Given the description of an element on the screen output the (x, y) to click on. 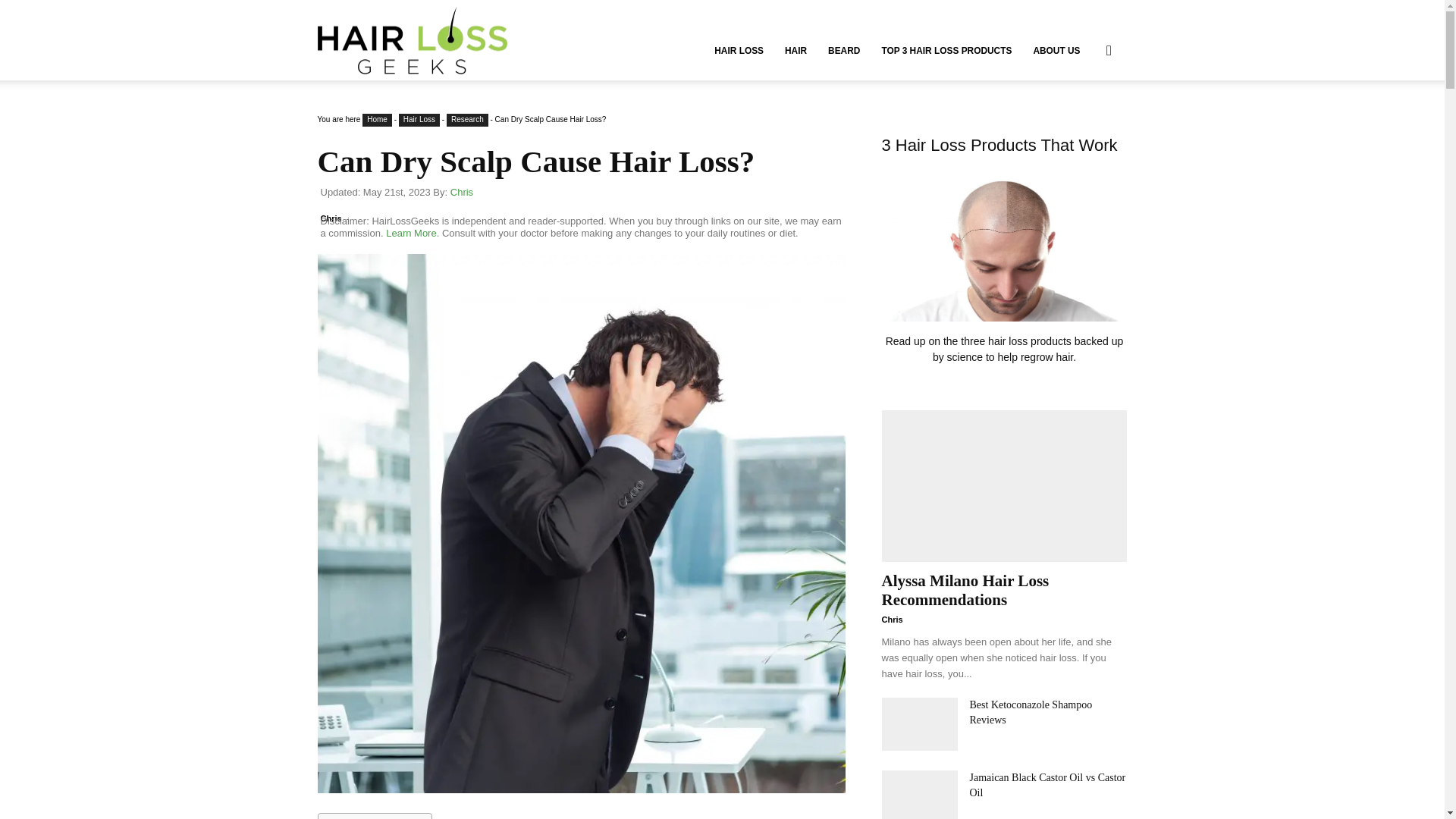
HAIR LOSS (738, 50)
Search (1085, 122)
Hair Loss Geeks (411, 39)
Research (466, 119)
Best Ketoconazole Shampoo Reviews (918, 724)
Hair Loss Products That Work (1003, 267)
Can Dry Scalp Cause Hair Loss? (535, 161)
Hair Loss Products That Work (1003, 245)
BEARD (843, 50)
Can Dry Scalp Cause Hair Loss? (535, 161)
Alyssa Milano Hair Loss Recommendations (964, 590)
Alyssa Milano Hair Loss Recommendations (1003, 485)
TOP 3 HAIR LOSS PRODUCTS (946, 50)
Hair Loss (418, 119)
